Given the description of an element on the screen output the (x, y) to click on. 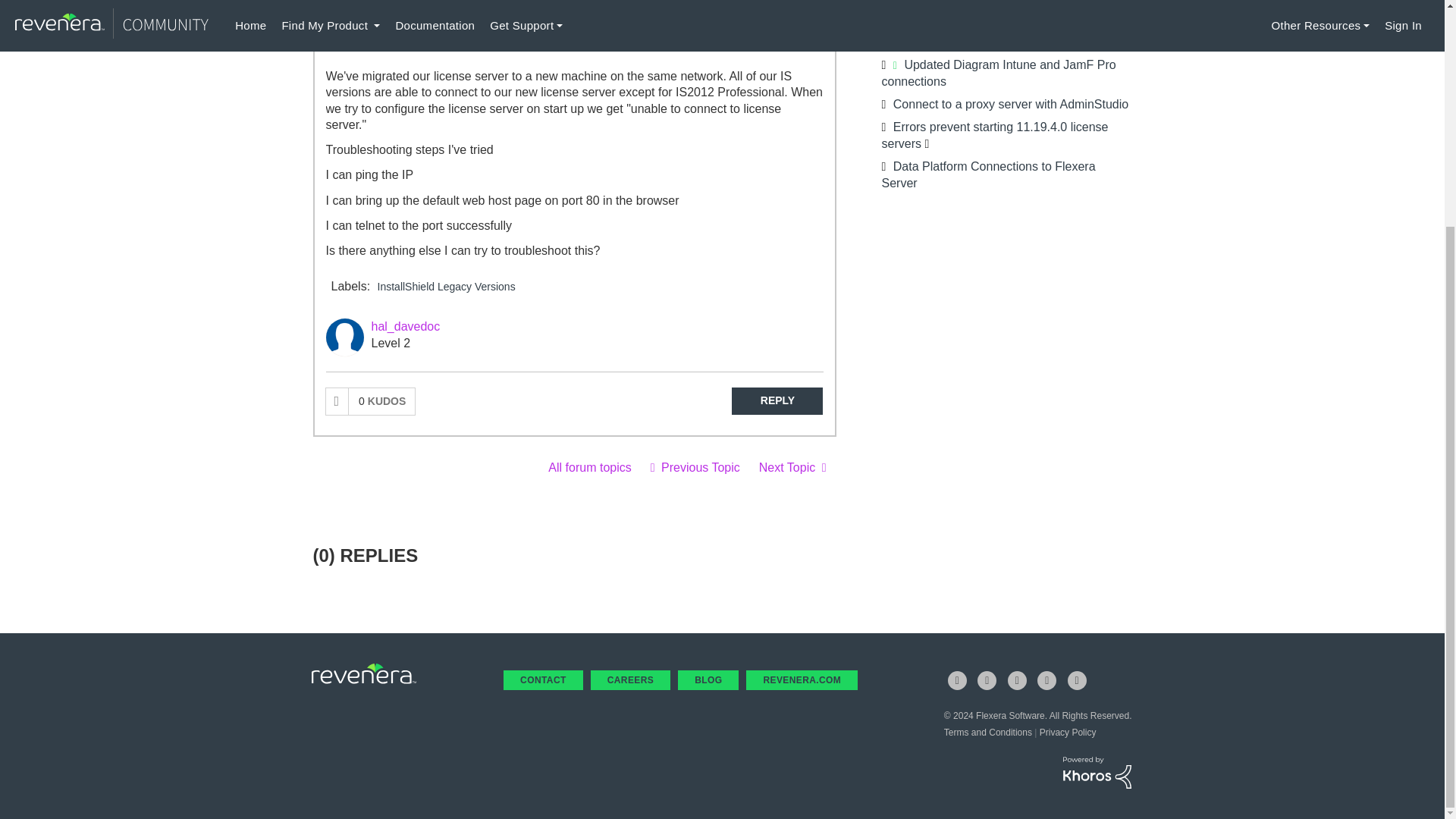
Click here to give kudos to this post. (336, 401)
How to clear created files in uninstall. (792, 467)
Show option menu (810, 13)
Posted on (551, 40)
The total number of kudos this post has received. (381, 401)
InstallShield Forum (589, 467)
